Given the description of an element on the screen output the (x, y) to click on. 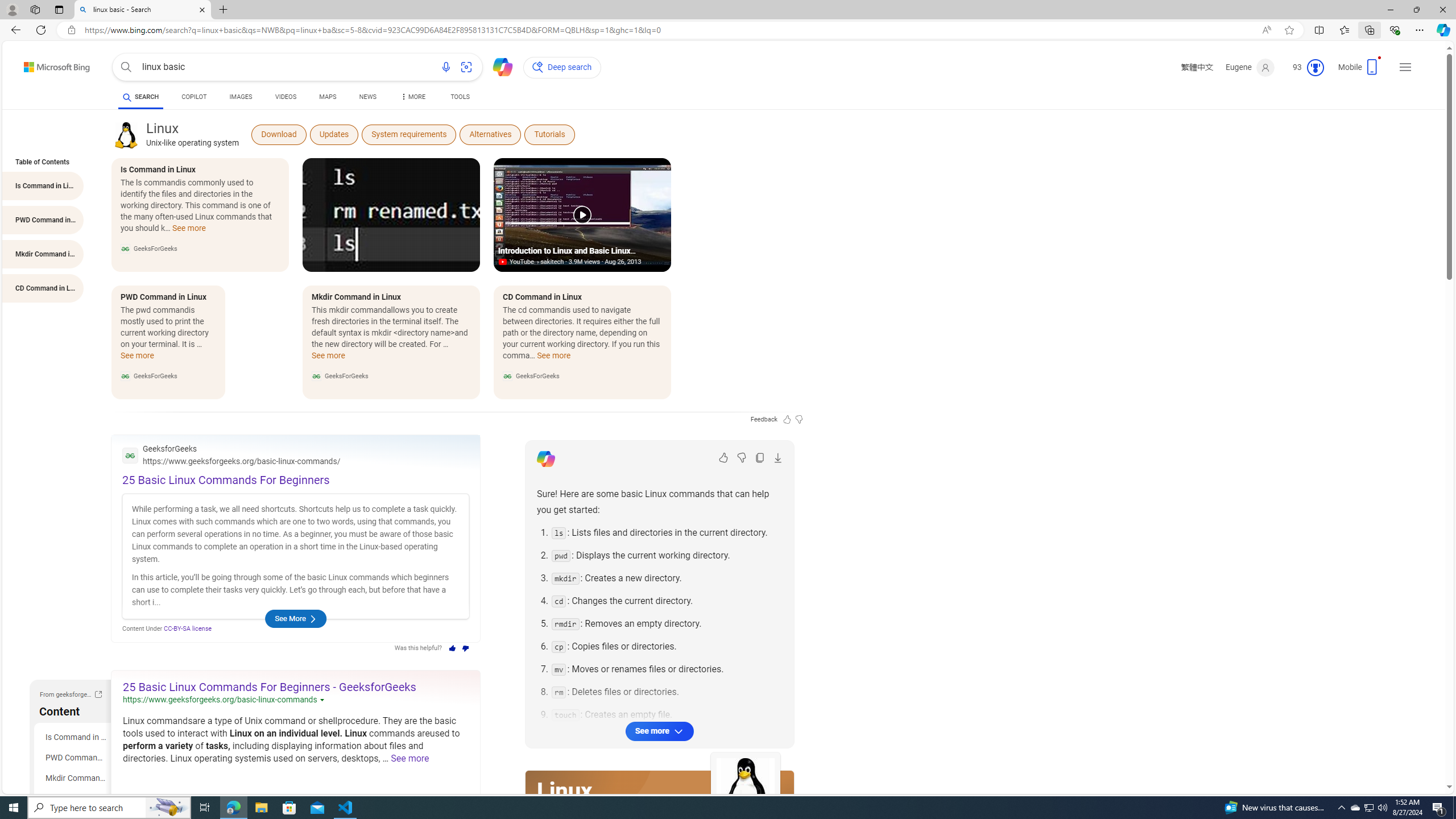
Back to Bing search (50, 64)
Class: slide wptSld colSpan3 rowSpan4 (582, 278)
NEWS (367, 96)
Linux (126, 135)
Download (279, 134)
25 Basic Linux Commands For Beginners - GeeksforGeeks (269, 686)
Search using voice (445, 66)
linux basic - Search (142, 9)
Copy (759, 457)
Search more (1423, 753)
Dropdown Menu (412, 96)
